Given the description of an element on the screen output the (x, y) to click on. 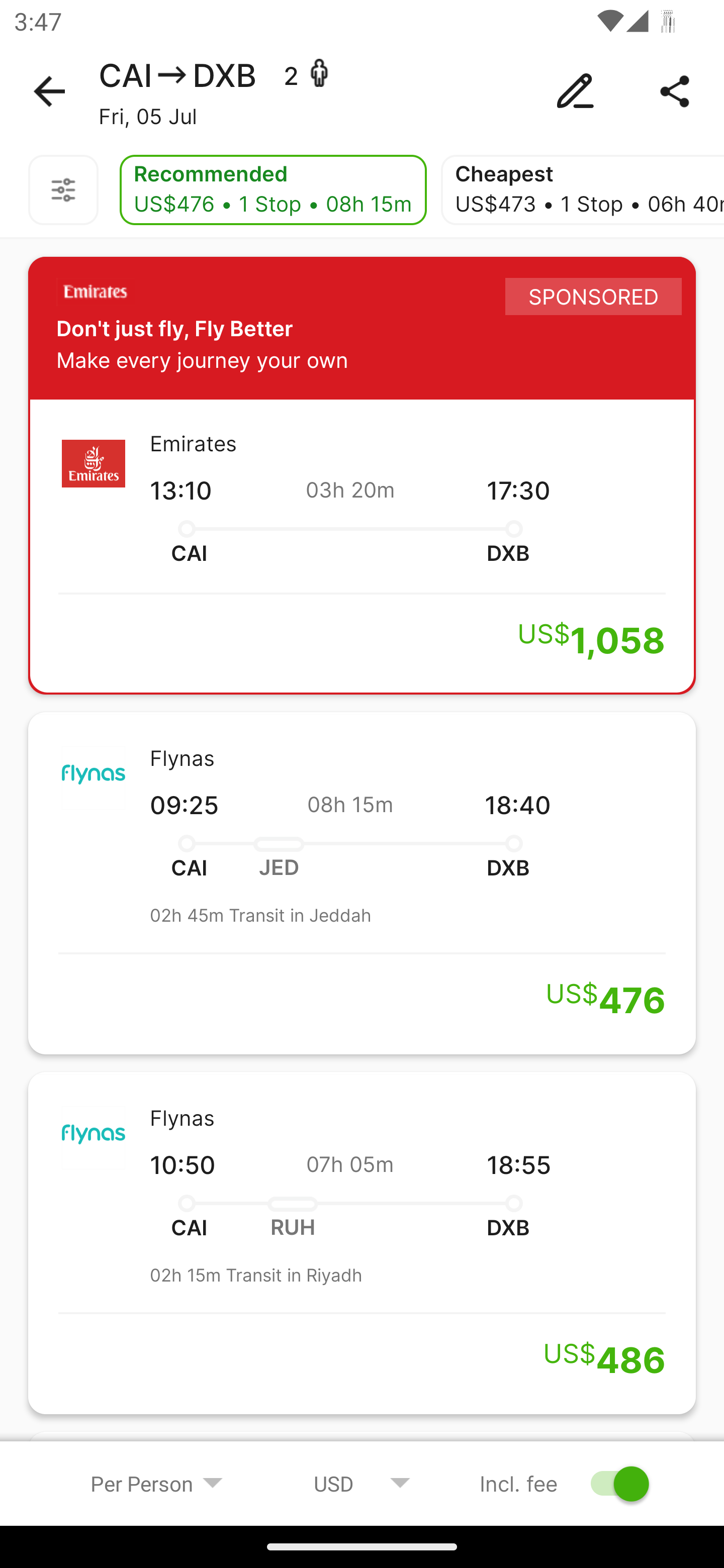
CAI DXB   2 - Fri, 05 Jul (361, 91)
Recommended  US$476 • 1 Stop • 08h 15m (273, 190)
Cheapest US$473 • 1 Stop • 06h 40m (582, 190)
Per Person (156, 1482)
USD (361, 1482)
